Given the description of an element on the screen output the (x, y) to click on. 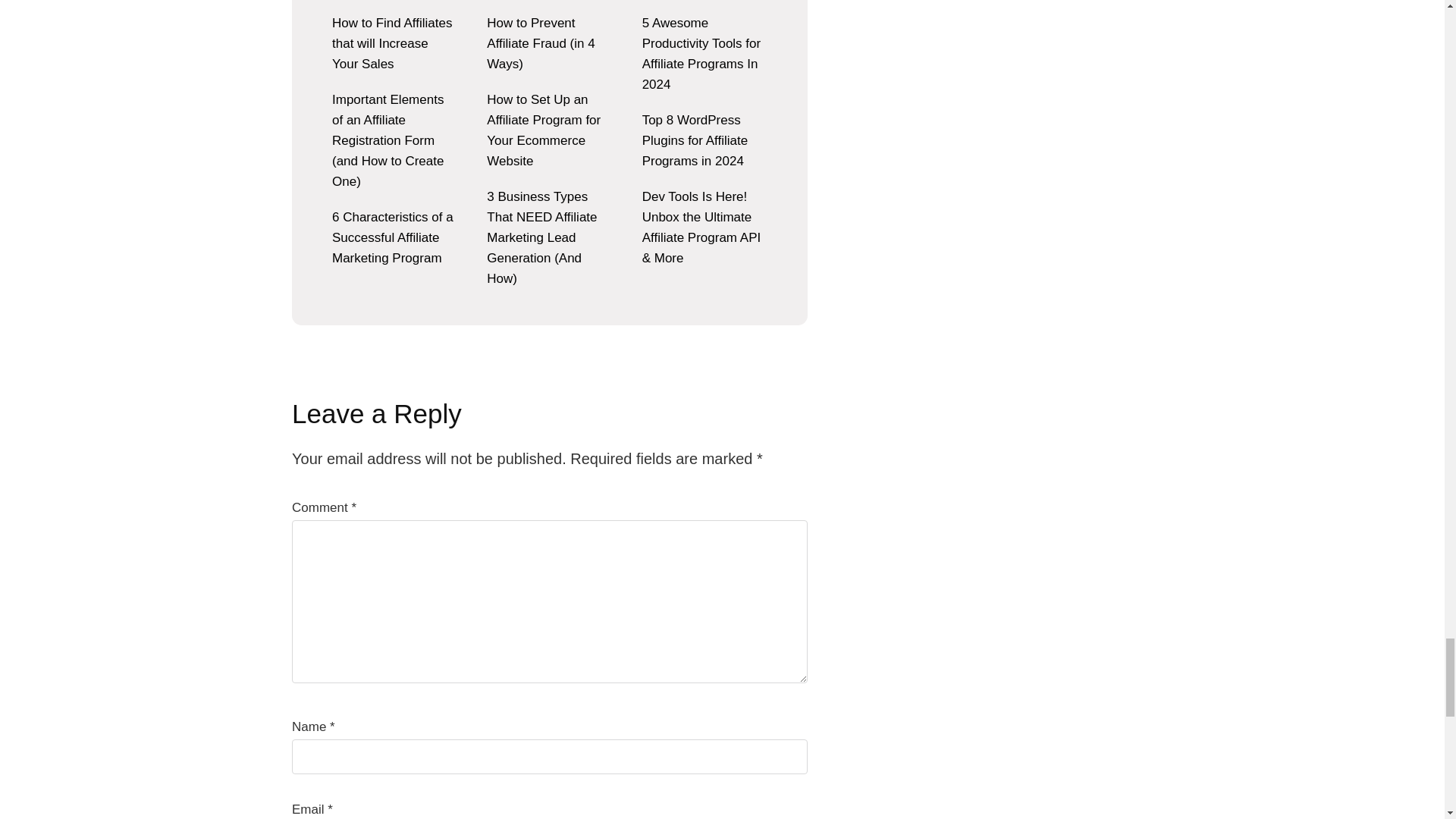
How to Find Affiliates that will Increase Your Sales (391, 43)
